Given the description of an element on the screen output the (x, y) to click on. 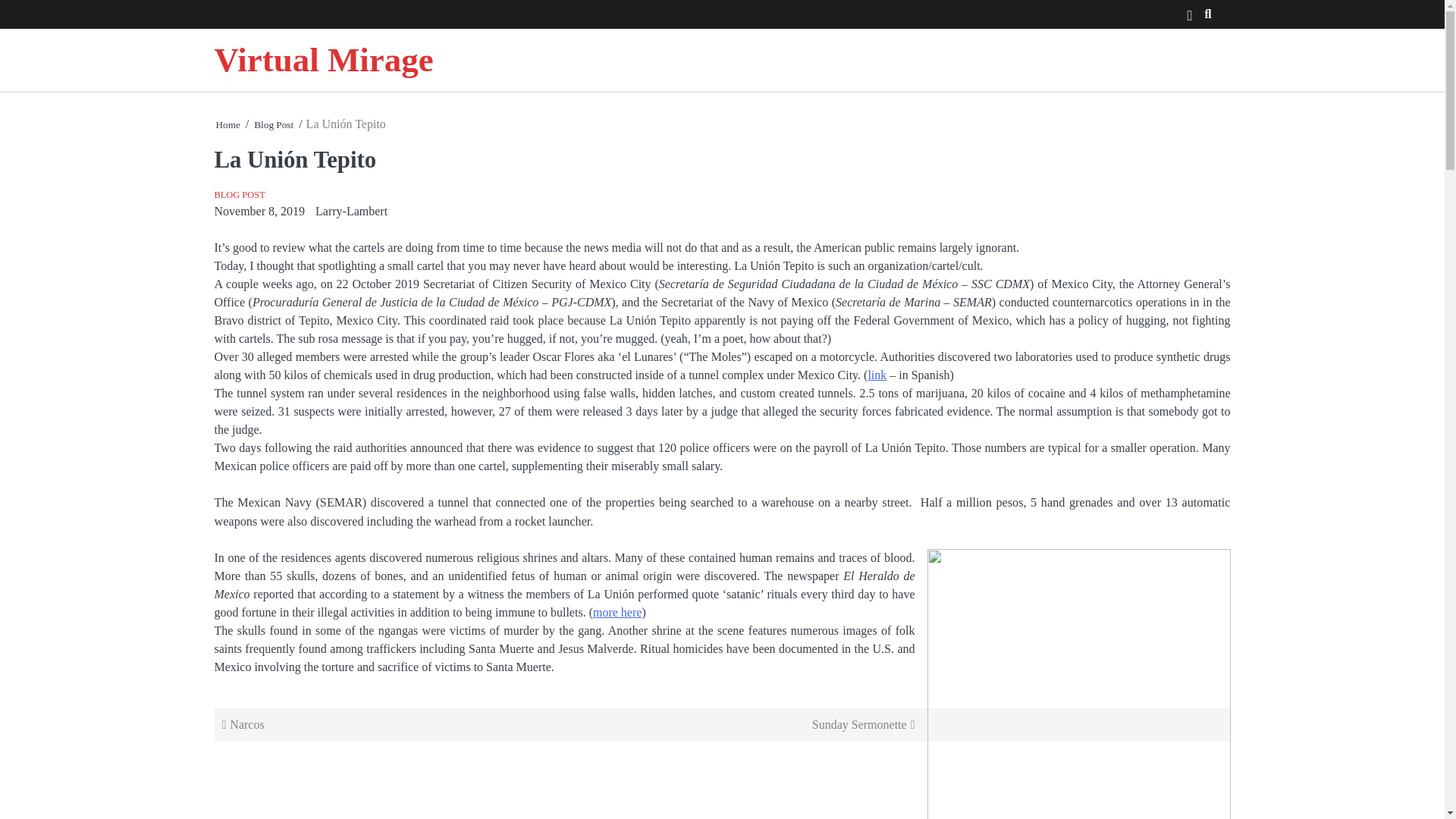
Narcos (392, 724)
Blog Post (273, 124)
Virtual Mirage (323, 59)
Home (227, 124)
Larry-Lambert (351, 210)
November 8, 2019 (259, 210)
View Random Post (1190, 15)
more here (617, 612)
BLOG POST (239, 194)
link (876, 374)
Sunday Sermonette (743, 724)
Search (1191, 45)
